Given the description of an element on the screen output the (x, y) to click on. 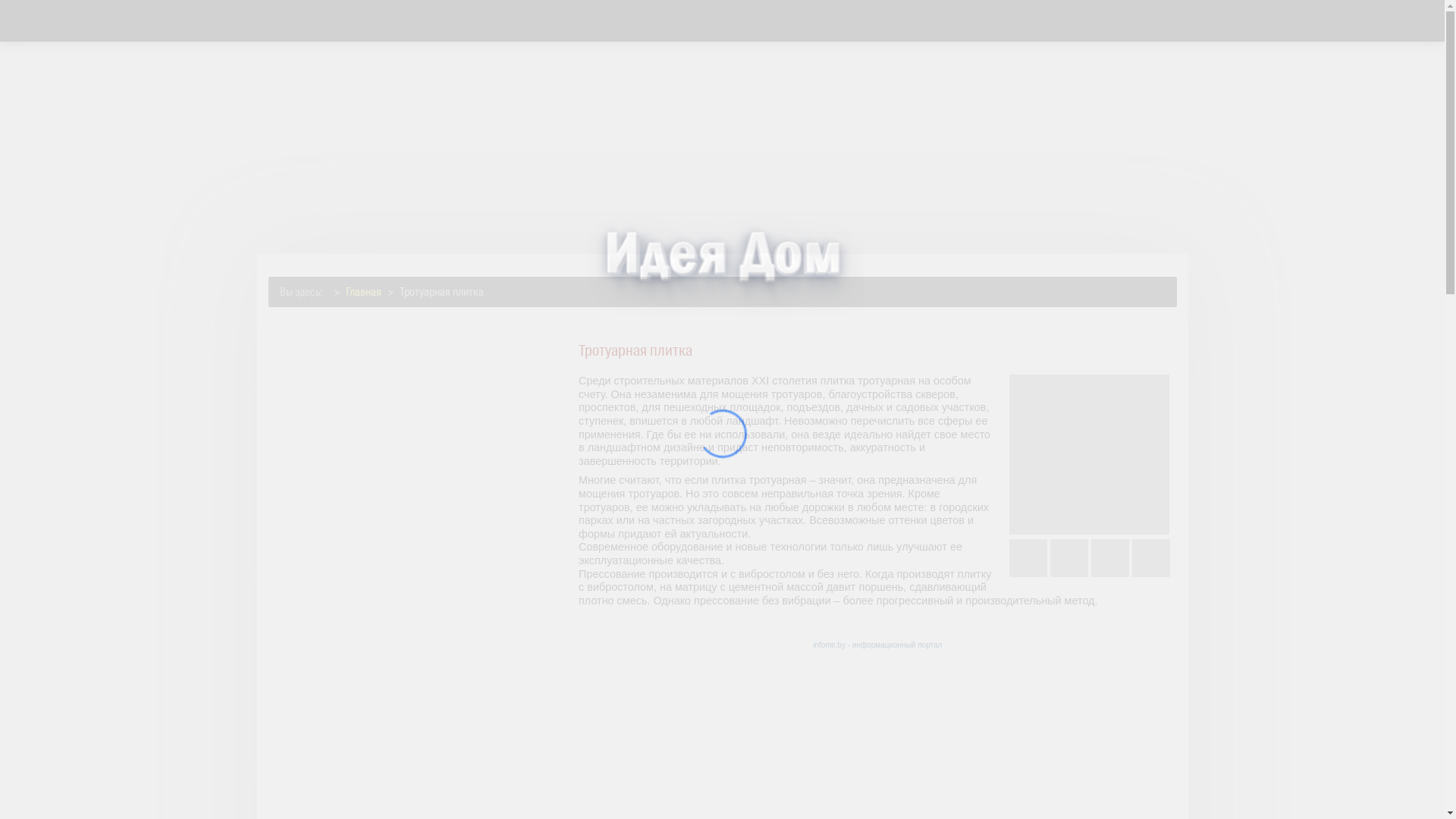
plitka Element type: hover (1028, 558)
plitka-1 Element type: hover (1069, 558)
plitka Element type: hover (1089, 454)
plitka-3 Element type: hover (1151, 558)
plitka-2 Element type: hover (1110, 558)
